Given the description of an element on the screen output the (x, y) to click on. 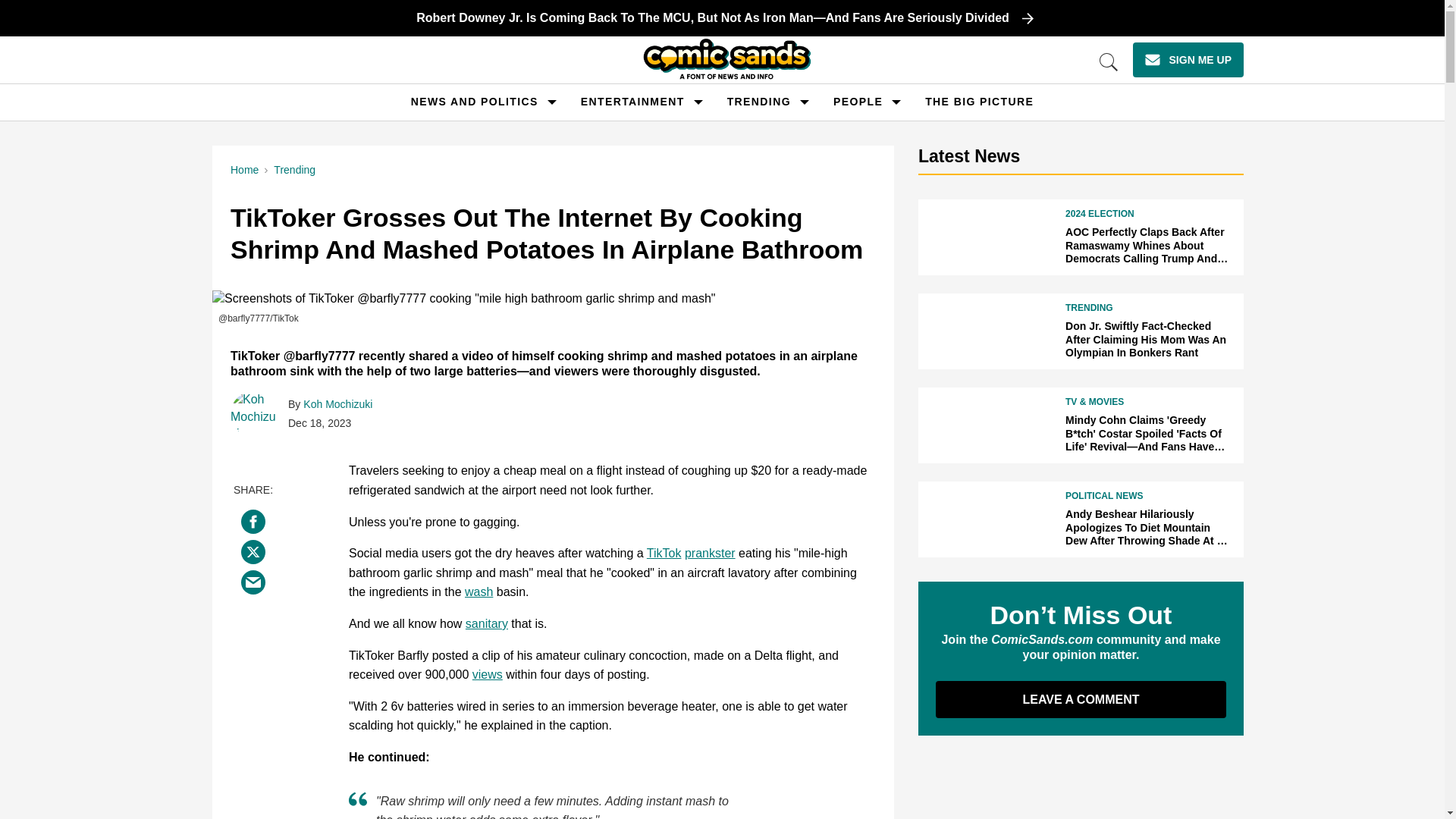
Open Search (1108, 61)
NEWS AND POLITICS (474, 101)
SIGN ME UP (1187, 59)
Open Search (1108, 61)
